Given the description of an element on the screen output the (x, y) to click on. 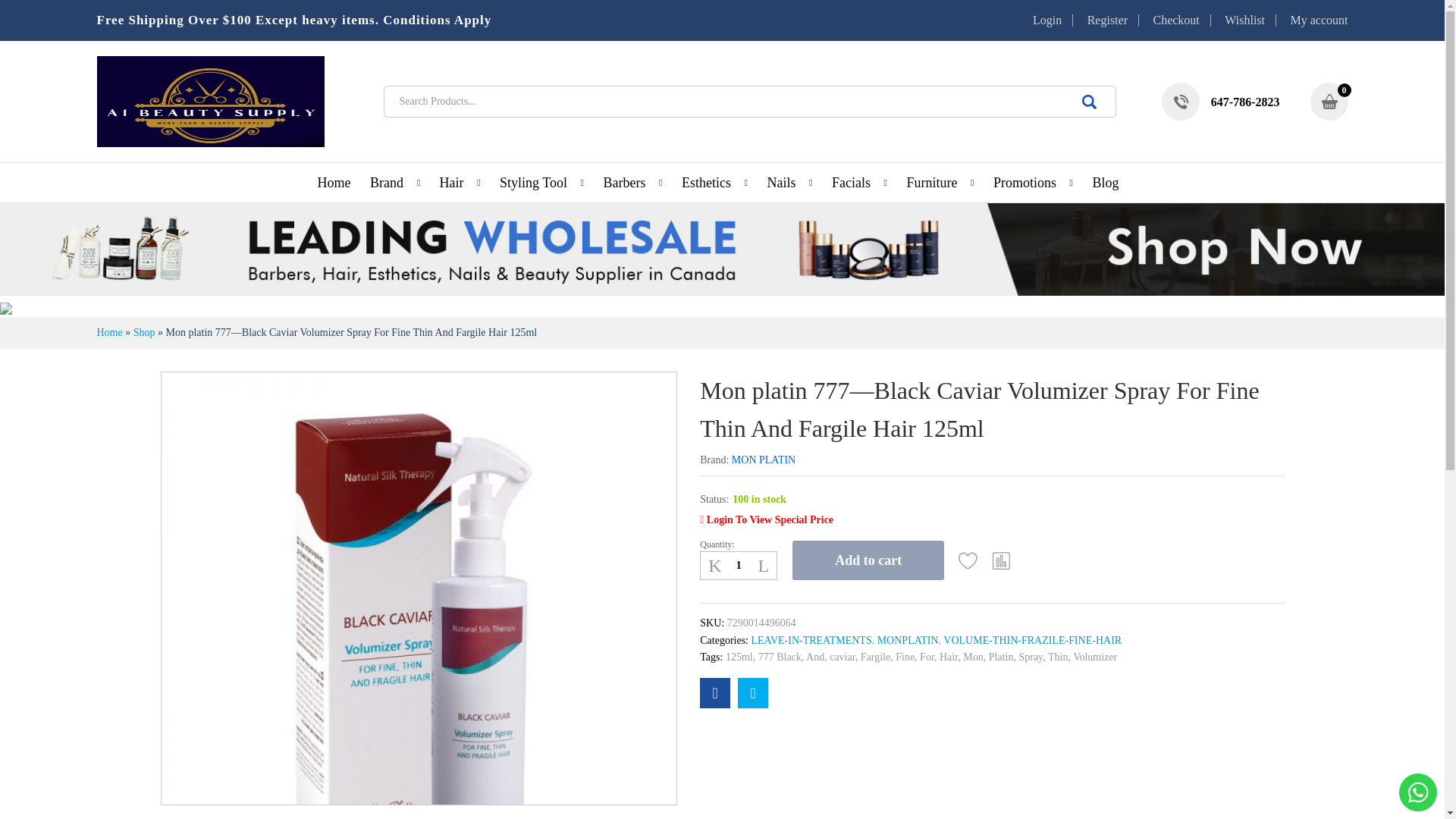
1 (738, 565)
Checkout (1175, 19)
Wishlist (968, 560)
Register (1106, 19)
My account (1319, 19)
Wishlist (1244, 19)
Login (1046, 19)
Home (333, 182)
Brand (386, 182)
Qty (738, 565)
0 (1329, 101)
Search (1089, 101)
647-786-2823 (1220, 101)
